Given the description of an element on the screen output the (x, y) to click on. 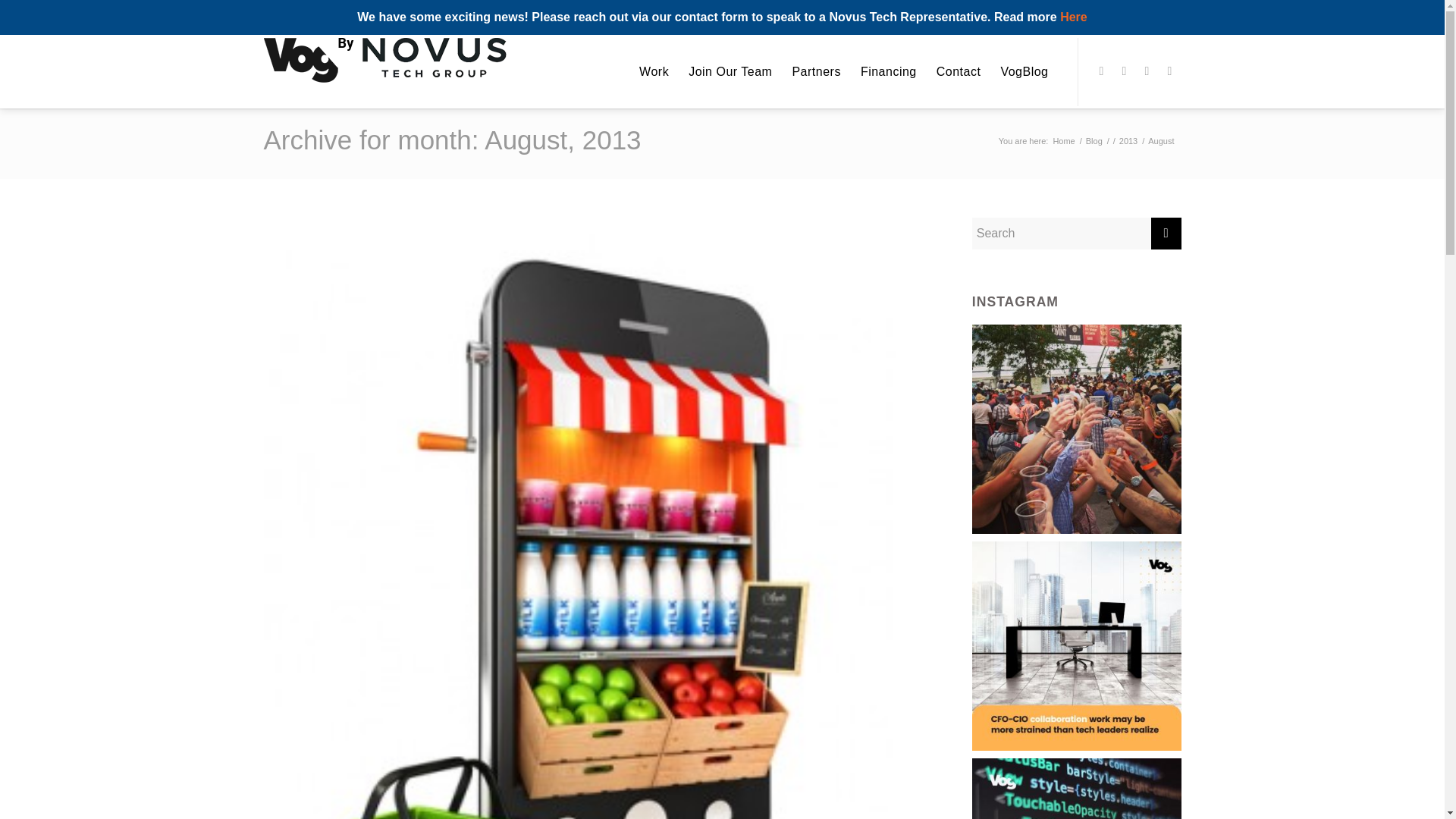
LinkedIn (1169, 70)
Financing (888, 71)
2013 (1128, 141)
2013 (1128, 141)
Contact (958, 71)
newvoglogo (384, 60)
Twitter (1124, 70)
Blog (1094, 141)
Blog (1094, 141)
Vog Calgary App Developer (1063, 141)
Home (1063, 141)
Join Our Team (729, 71)
Facebook (1101, 70)
Partners (815, 71)
